Given the description of an element on the screen output the (x, y) to click on. 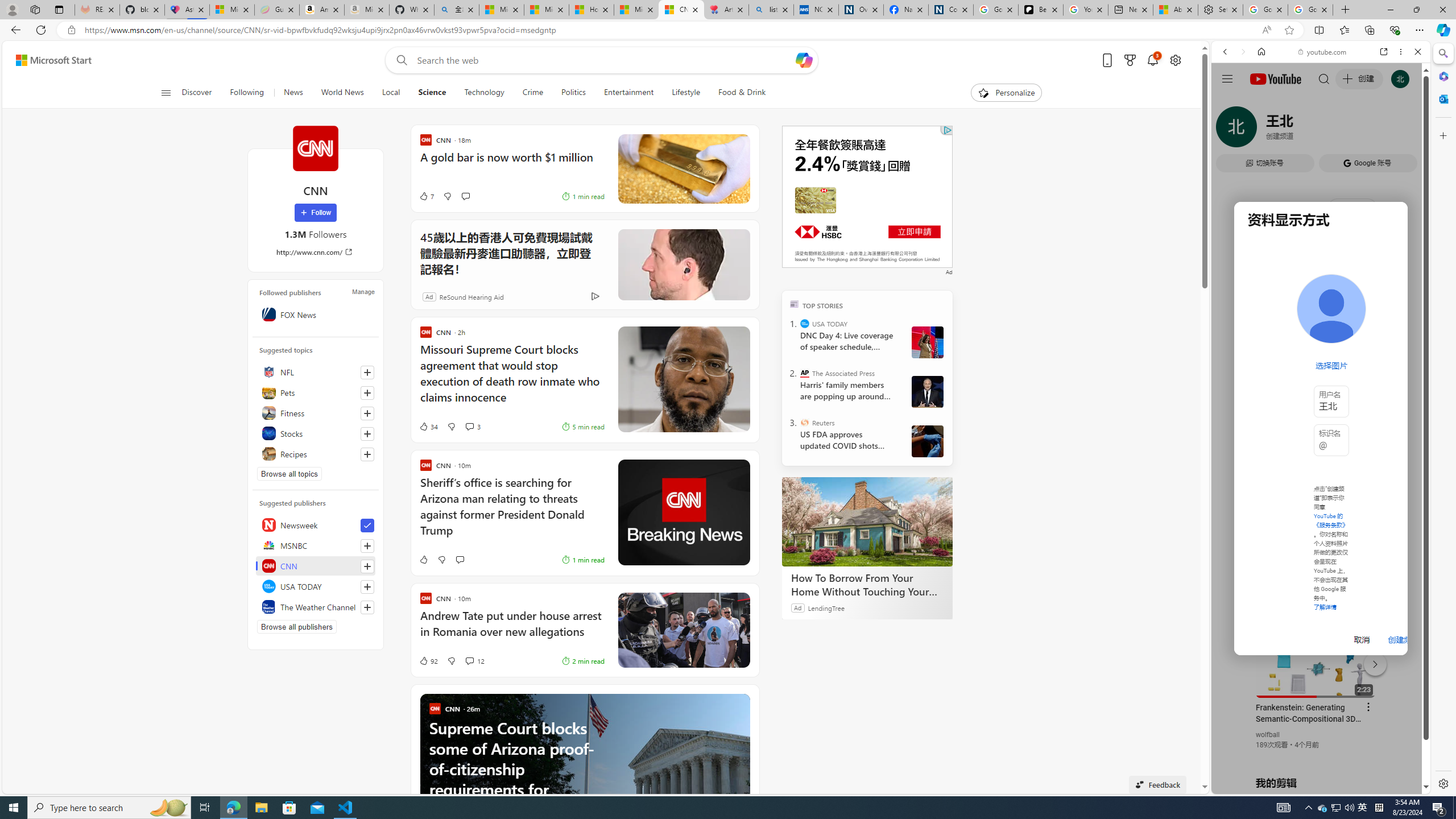
ReSound Hearing Aid (471, 296)
CNN (315, 565)
Global web icon (1232, 655)
Click to scroll right (1407, 456)
Class: b_serphb (1404, 130)
34 Like (427, 426)
Technology (483, 92)
NCL Adult Asthma Inhaler Choice Guideline (816, 9)
